Given the description of an element on the screen output the (x, y) to click on. 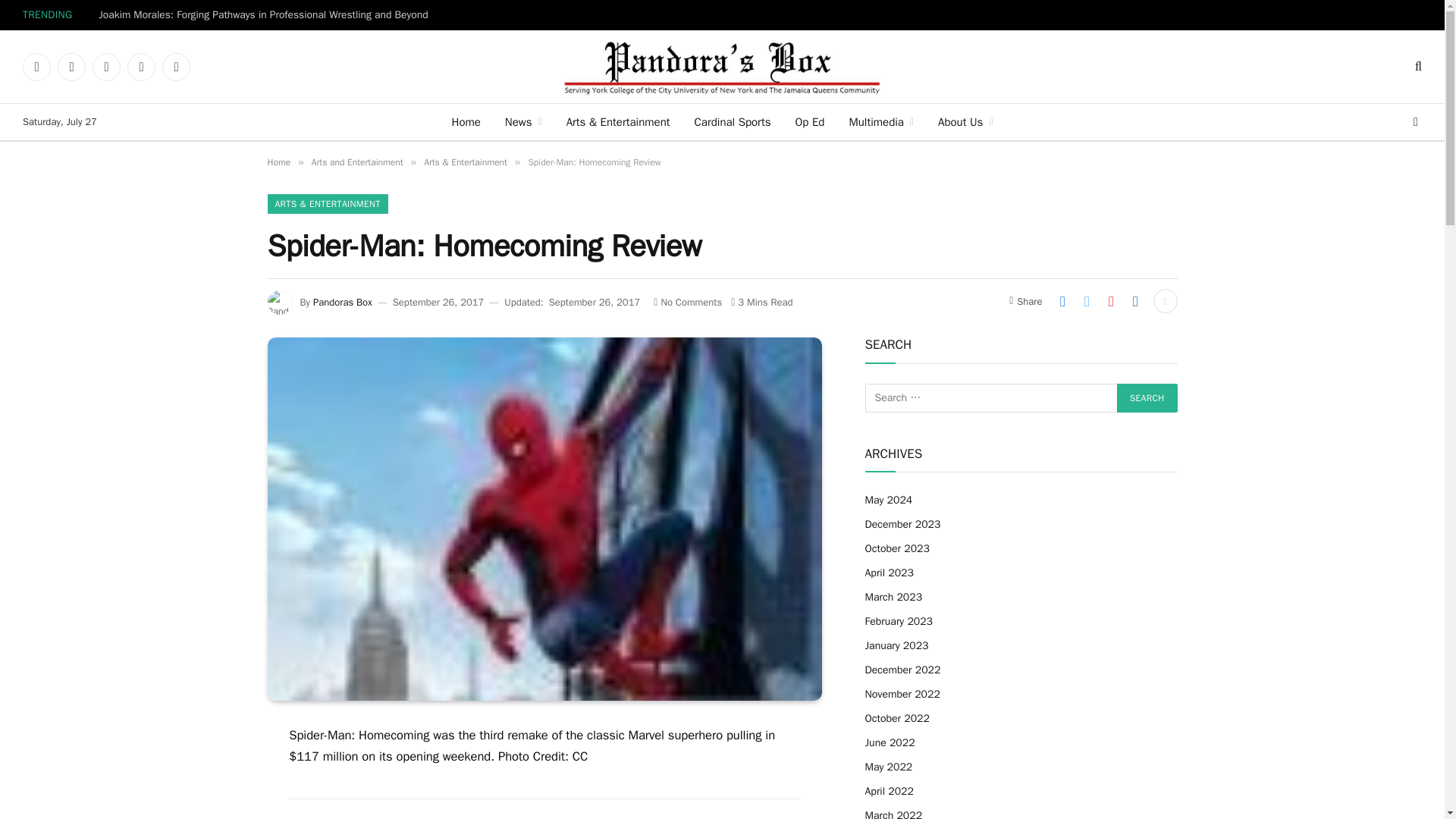
Op Ed (809, 122)
About Us (965, 122)
Multimedia (880, 122)
Snapchat (141, 67)
News (523, 122)
Home (466, 122)
Home (277, 162)
Search (1146, 398)
Search (1146, 398)
Share on Facebook (1062, 300)
Share on LinkedIn (1135, 300)
YouTube (106, 67)
SoundCloud (175, 67)
Posts by Pandoras Box (342, 301)
